Given the description of an element on the screen output the (x, y) to click on. 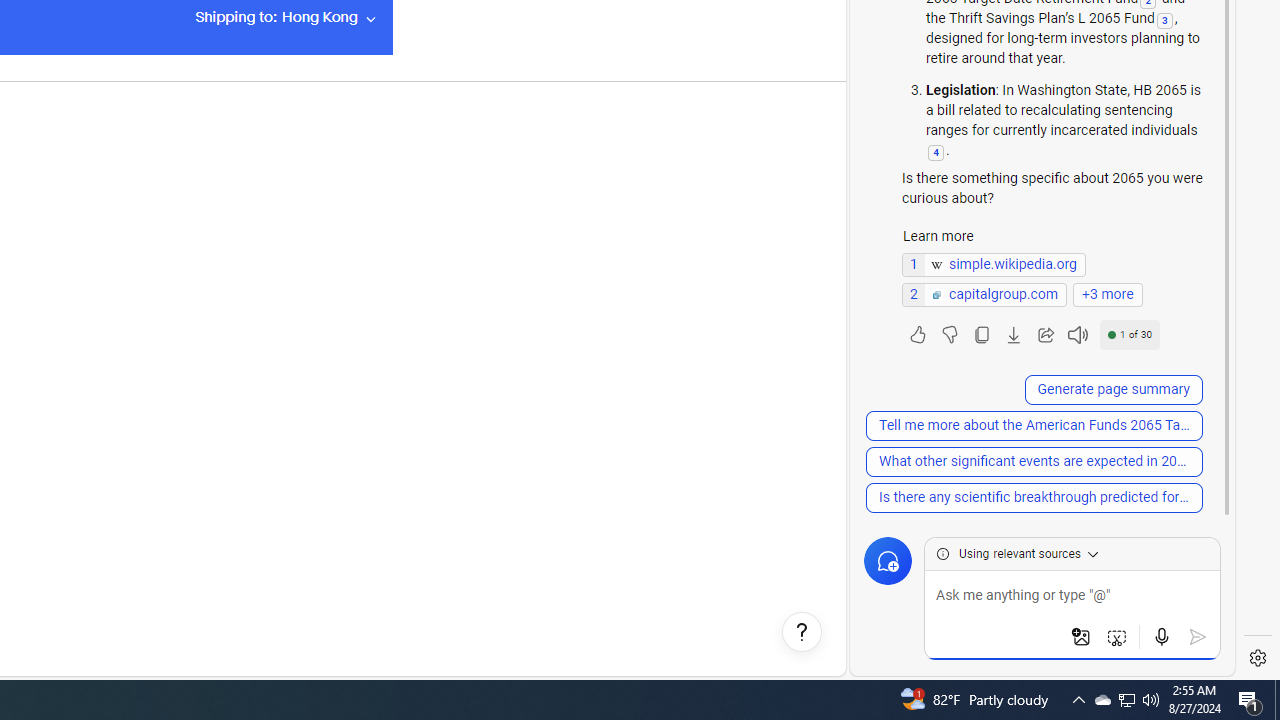
Help, opens dialogs (801, 632)
